Given the description of an element on the screen output the (x, y) to click on. 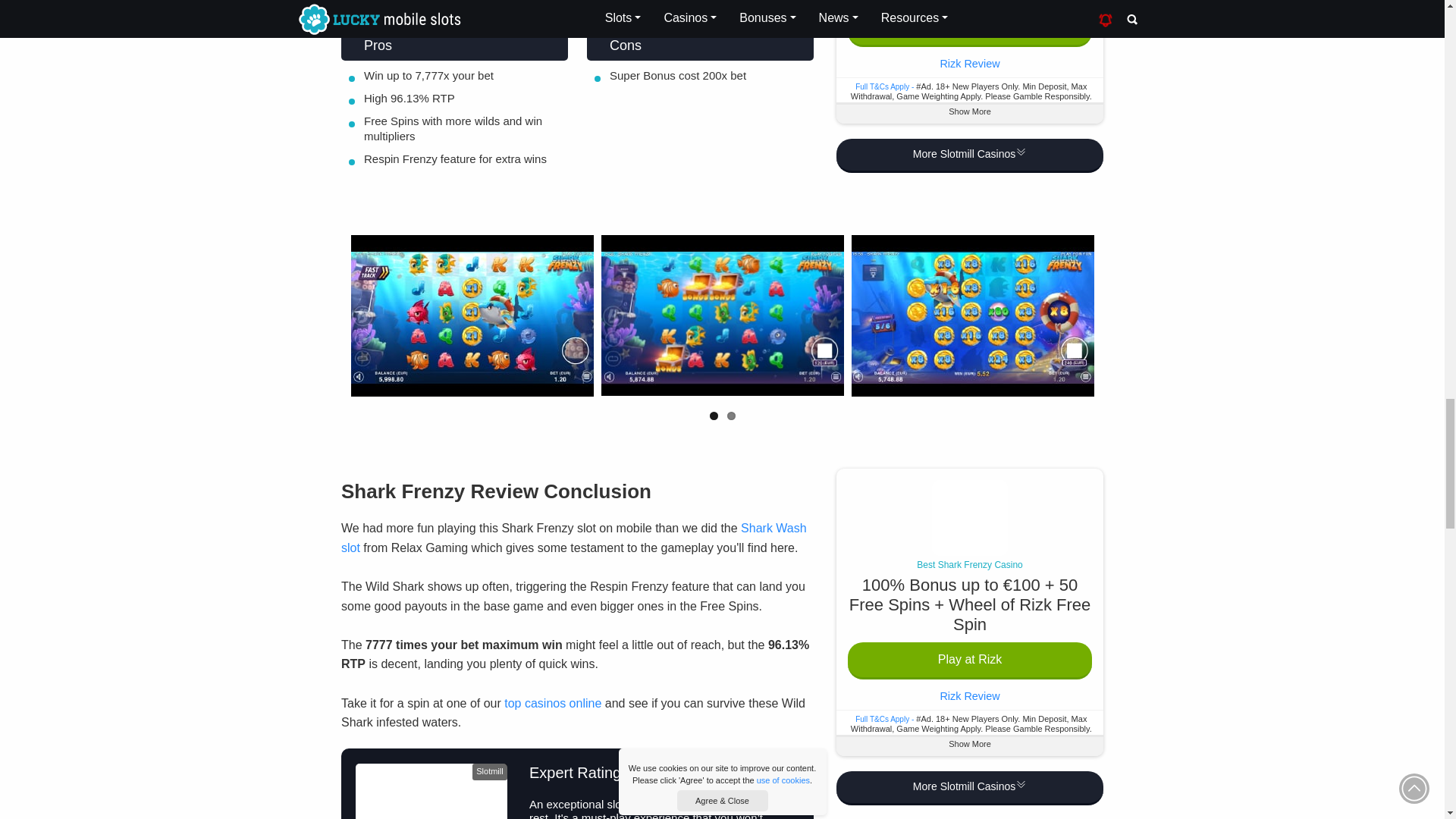
More Slotmill Casinos (969, 788)
